Given the description of an element on the screen output the (x, y) to click on. 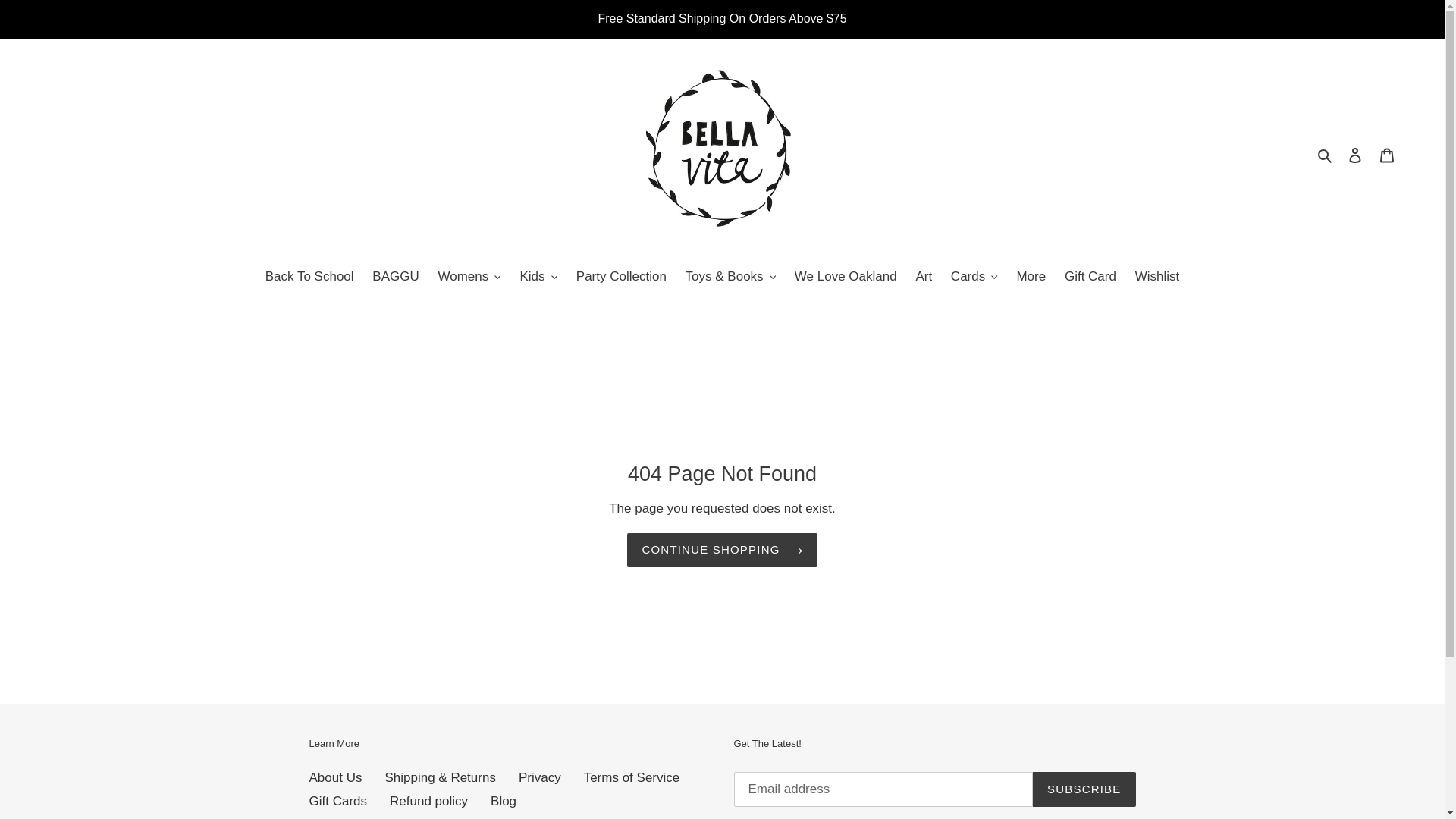
Search (1326, 154)
Log in (1355, 154)
Cart (1387, 154)
